Given the description of an element on the screen output the (x, y) to click on. 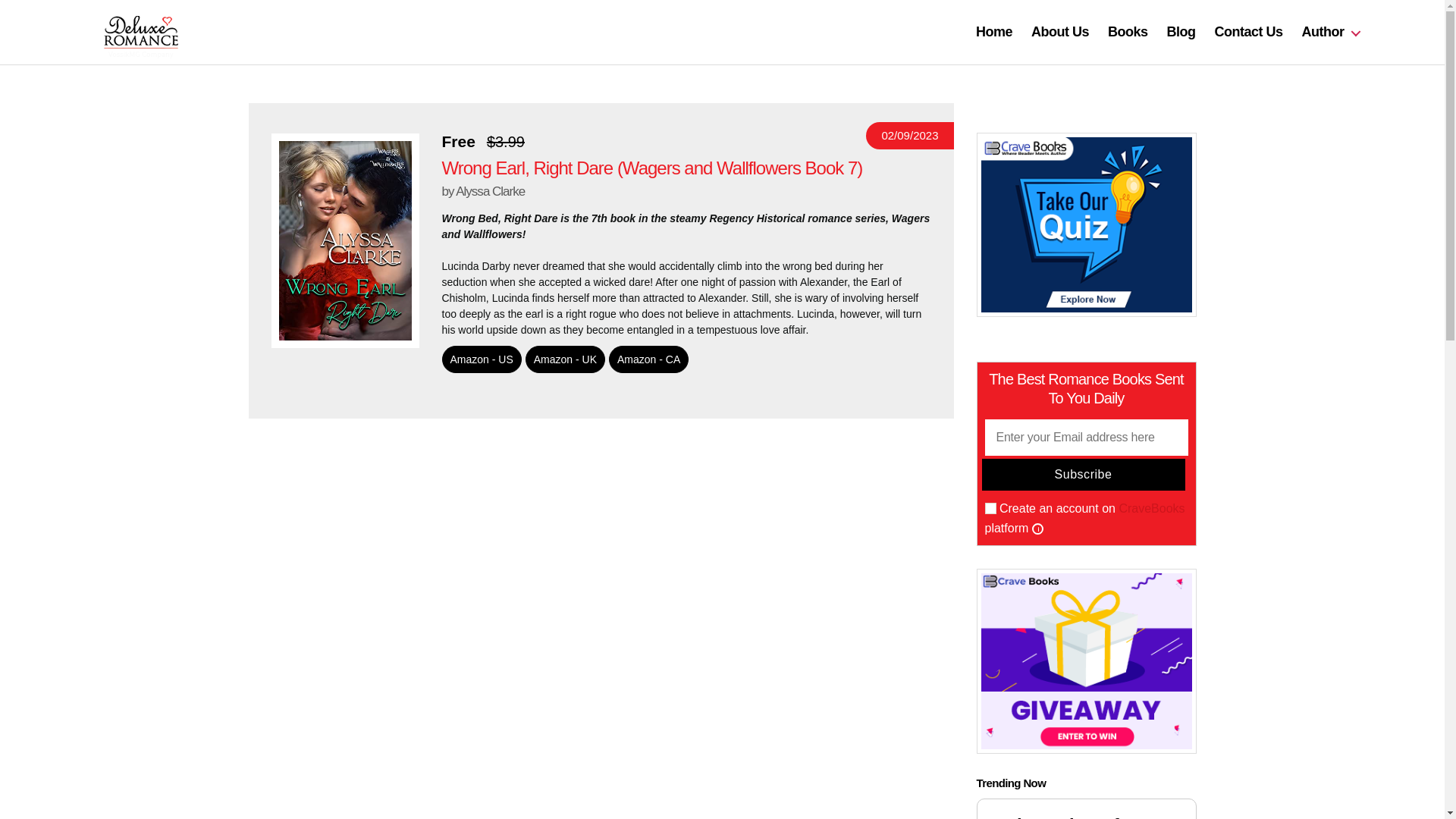
true (989, 508)
CraveBooks (1151, 508)
Amazon - CA (648, 359)
Contact Us (1248, 32)
Amazon - UK (565, 359)
Author (1329, 32)
Subscribe (1083, 474)
About Us (1059, 32)
Blog (1180, 32)
Home (993, 32)
Subscribe (1083, 474)
Amazon - US (481, 359)
Books (1128, 32)
